Given the description of an element on the screen output the (x, y) to click on. 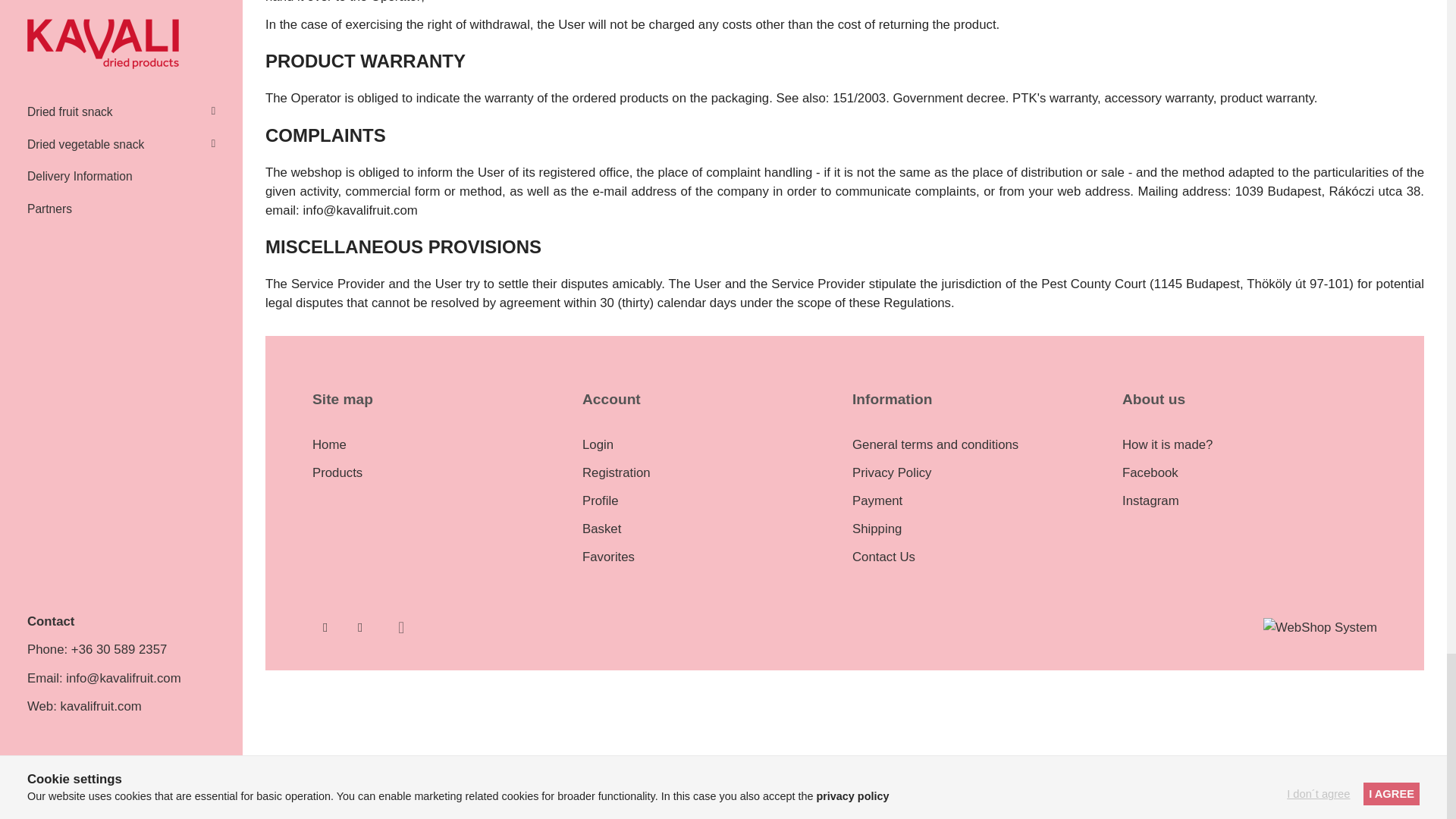
Cookie settings (400, 627)
WebShop System (1320, 626)
WebShop System (1320, 627)
